Given the description of an element on the screen output the (x, y) to click on. 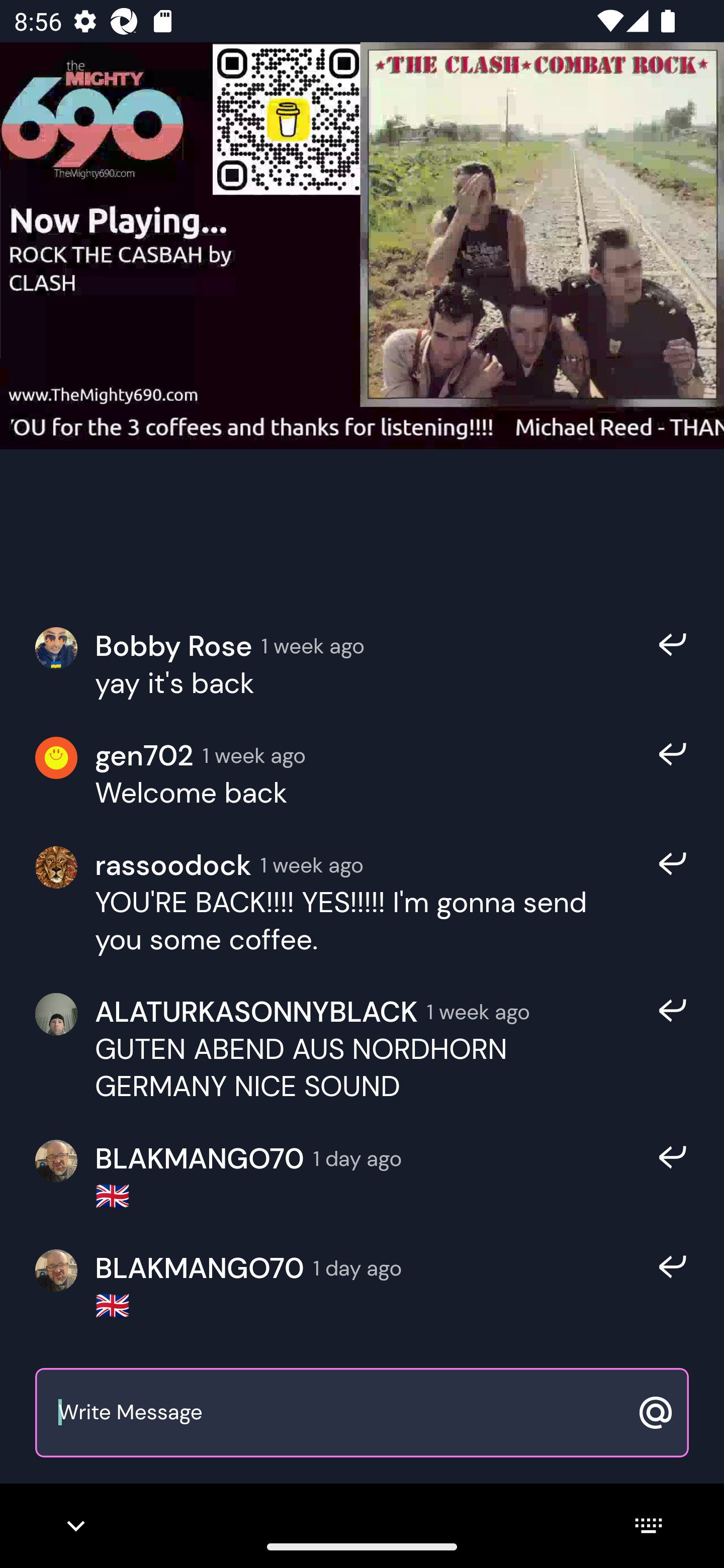
Bobby Rose (173, 645)
gen702 (143, 755)
rassoodock (172, 864)
ALATURKASONNYBLACK (255, 1011)
BLAKMANGO70 (199, 1158)
BLAKMANGO70 (199, 1268)
Write Message (340, 1413)
